Given the description of an element on the screen output the (x, y) to click on. 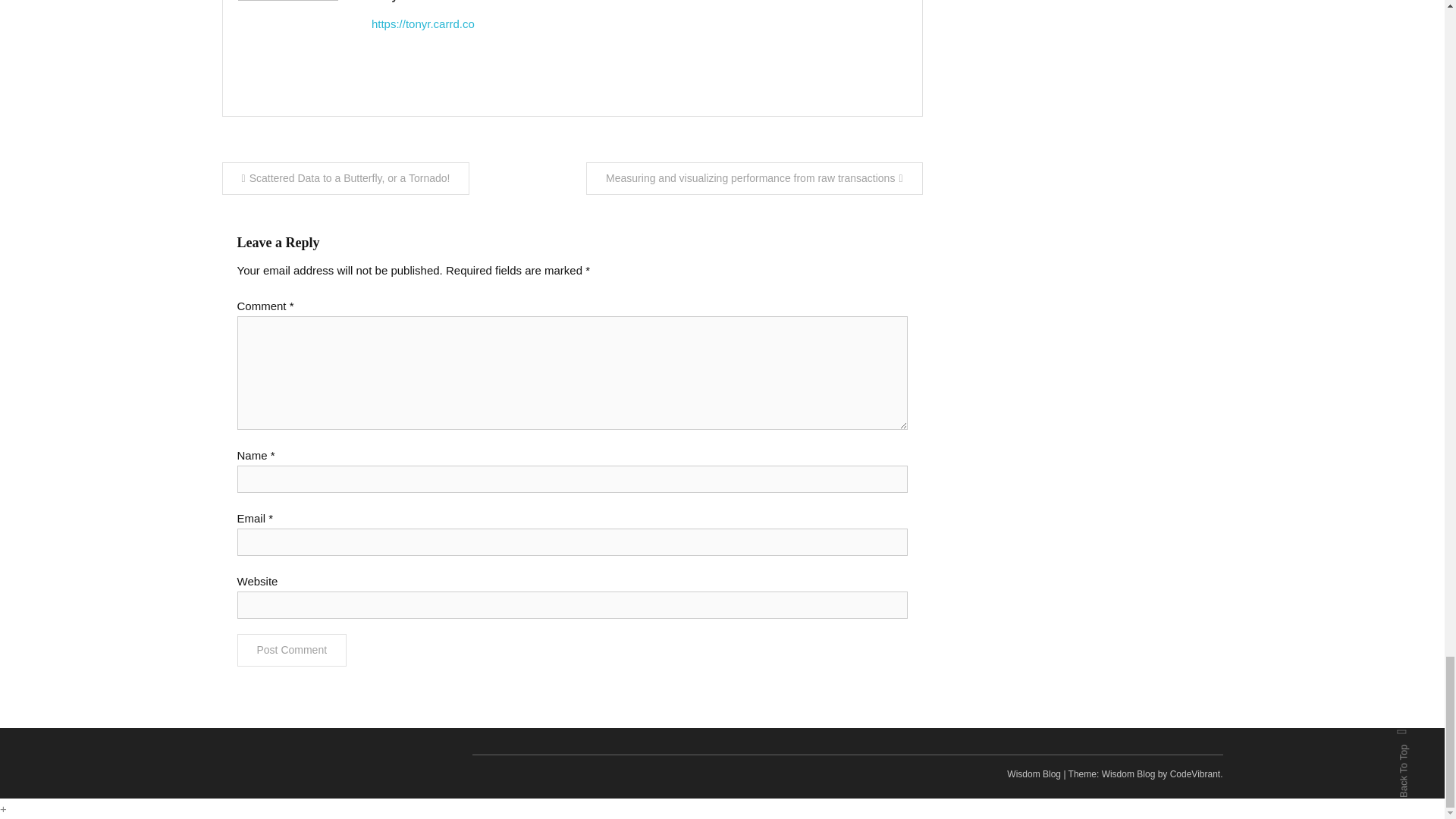
Scattered Data to a Butterfly, or a Tornado! (344, 178)
Post Comment (290, 649)
Measuring and visualizing performance from raw transactions (753, 178)
Post Comment (290, 649)
